Given the description of an element on the screen output the (x, y) to click on. 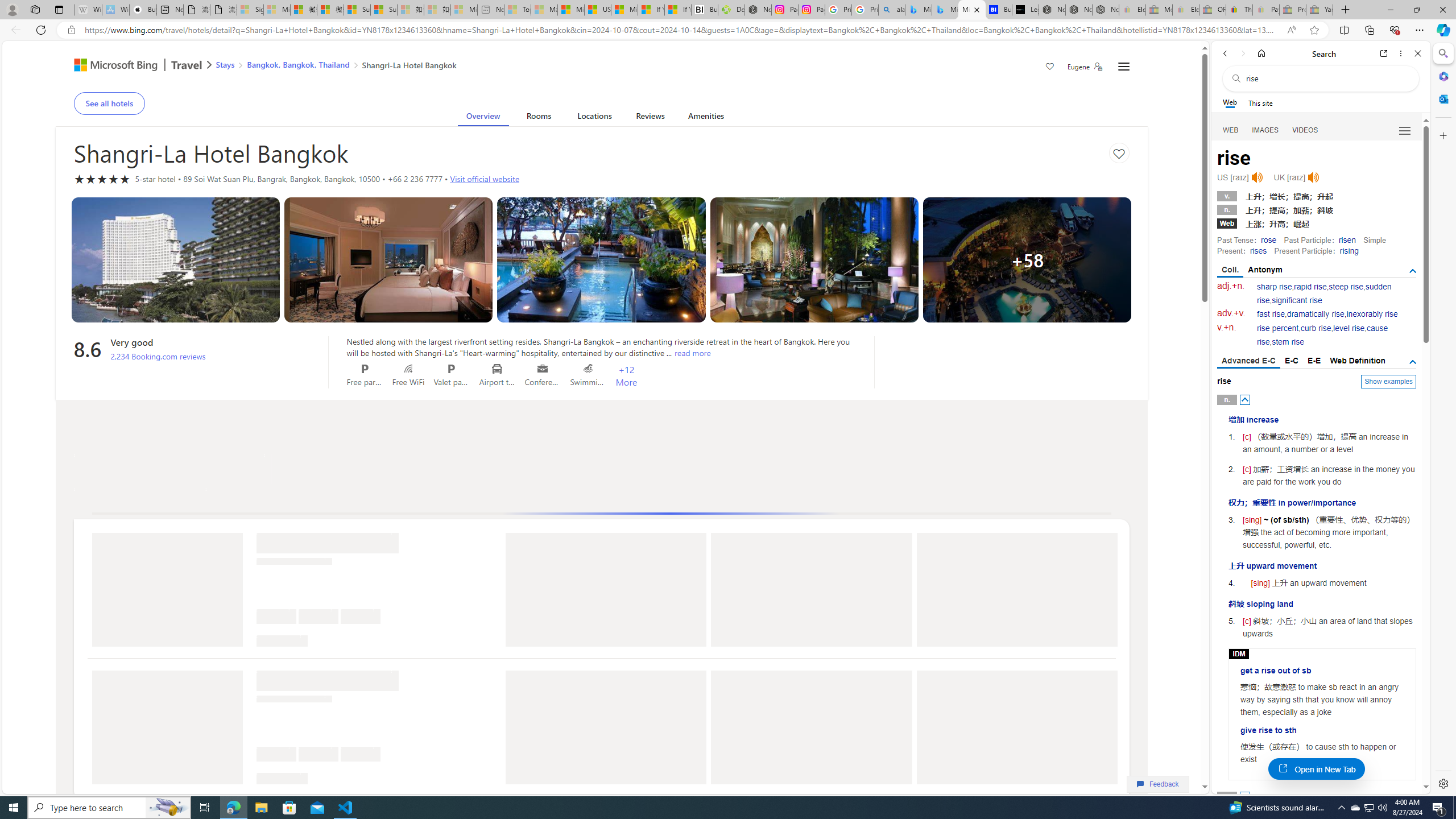
Save (1049, 67)
significant rise (1296, 300)
read more (692, 352)
E-C (1291, 360)
Antonym (1265, 269)
Save to collections (1118, 152)
Click to listen (1313, 177)
sharp rise (1274, 286)
